Given the description of an element on the screen output the (x, y) to click on. 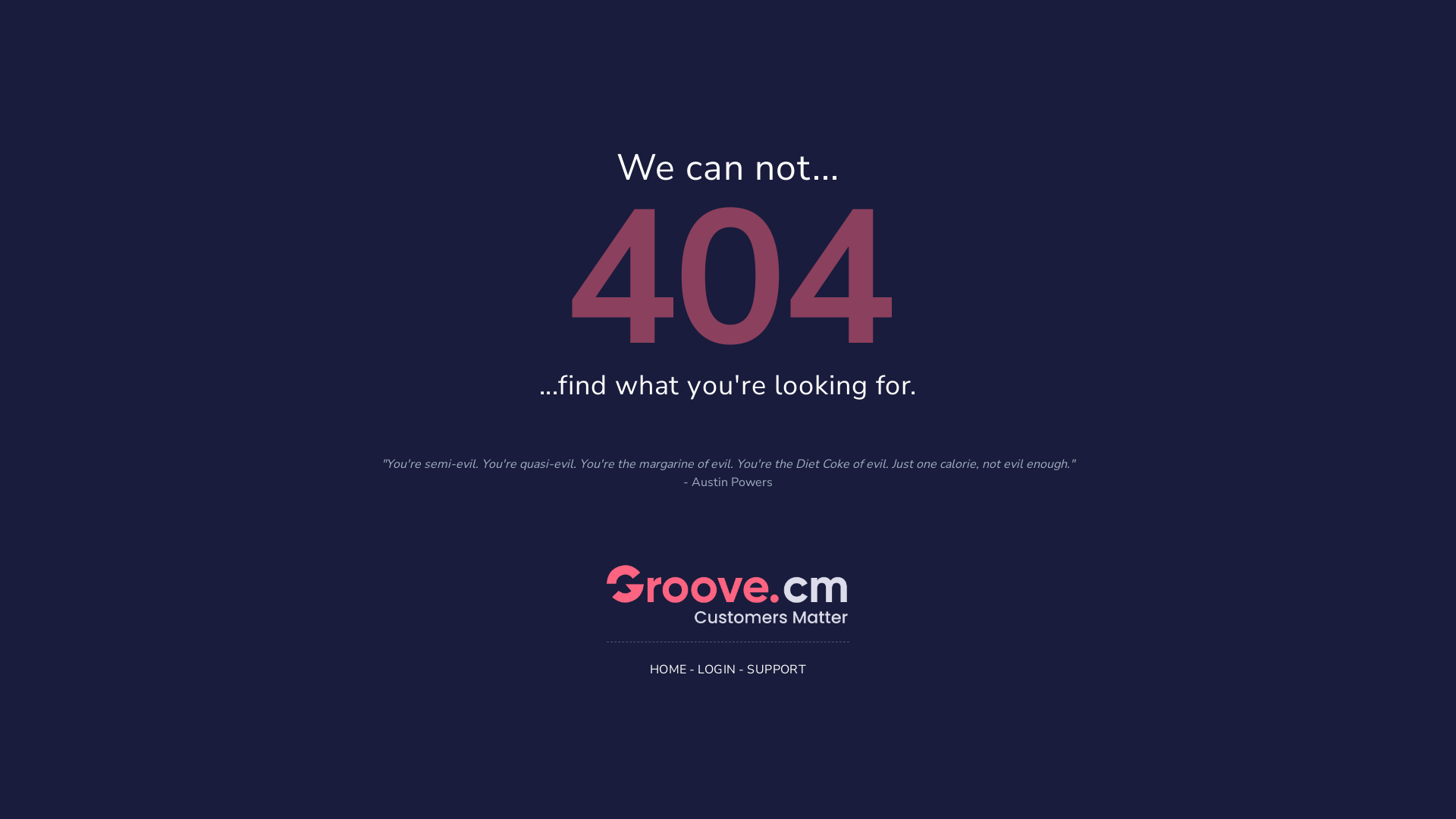
HOME Element type: text (668, 669)
SUPPORT Element type: text (776, 669)
LOGIN Element type: text (716, 669)
